Given the description of an element on the screen output the (x, y) to click on. 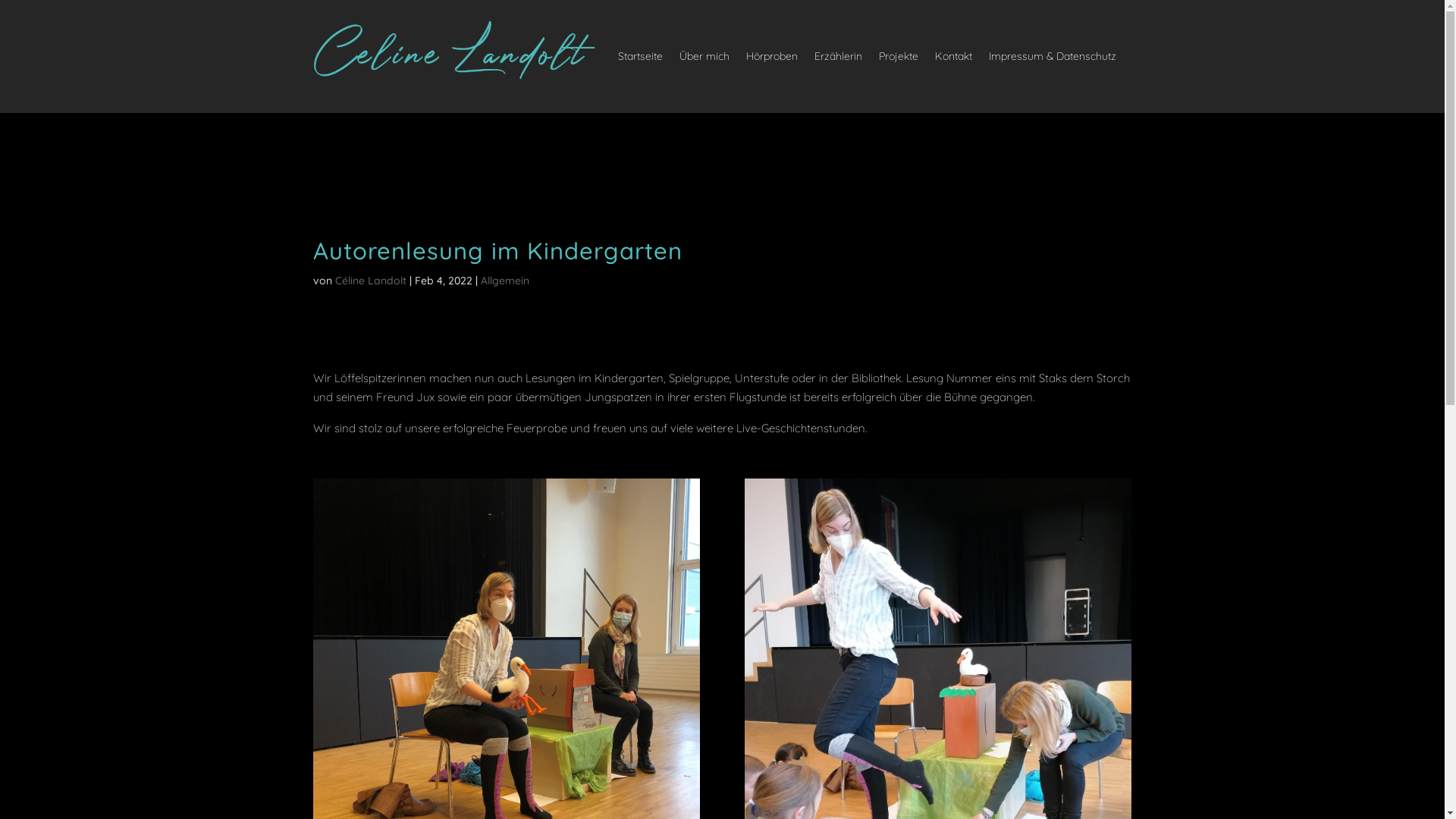
Kontakt Element type: text (953, 56)
Projekte Element type: text (898, 56)
Allgemein Element type: text (504, 280)
Startseite Element type: text (640, 56)
Impressum & Datenschutz Element type: text (1052, 56)
